Given the description of an element on the screen output the (x, y) to click on. 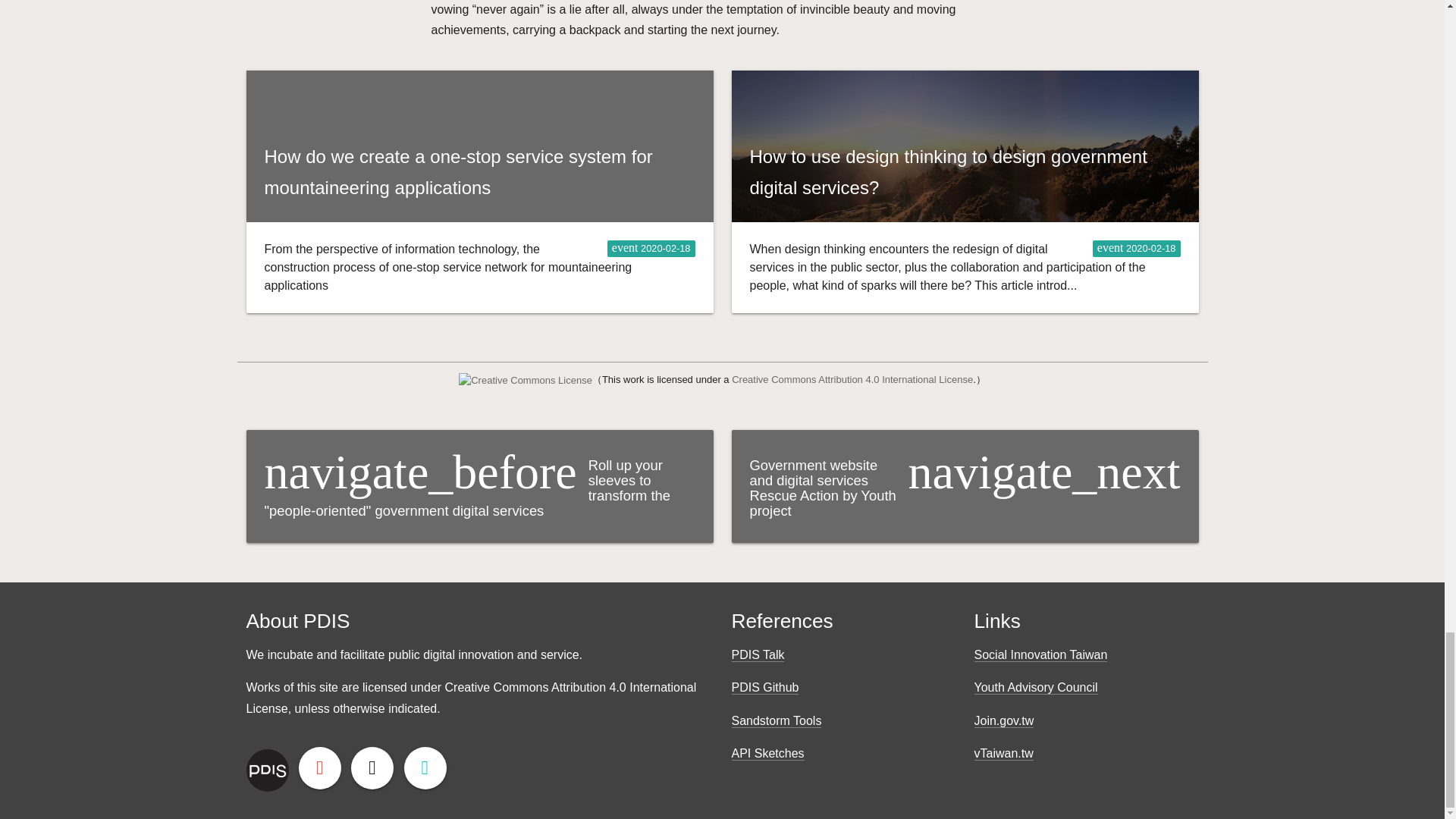
Creative Commons Attribution 4.0 International License (852, 378)
